Given the description of an element on the screen output the (x, y) to click on. 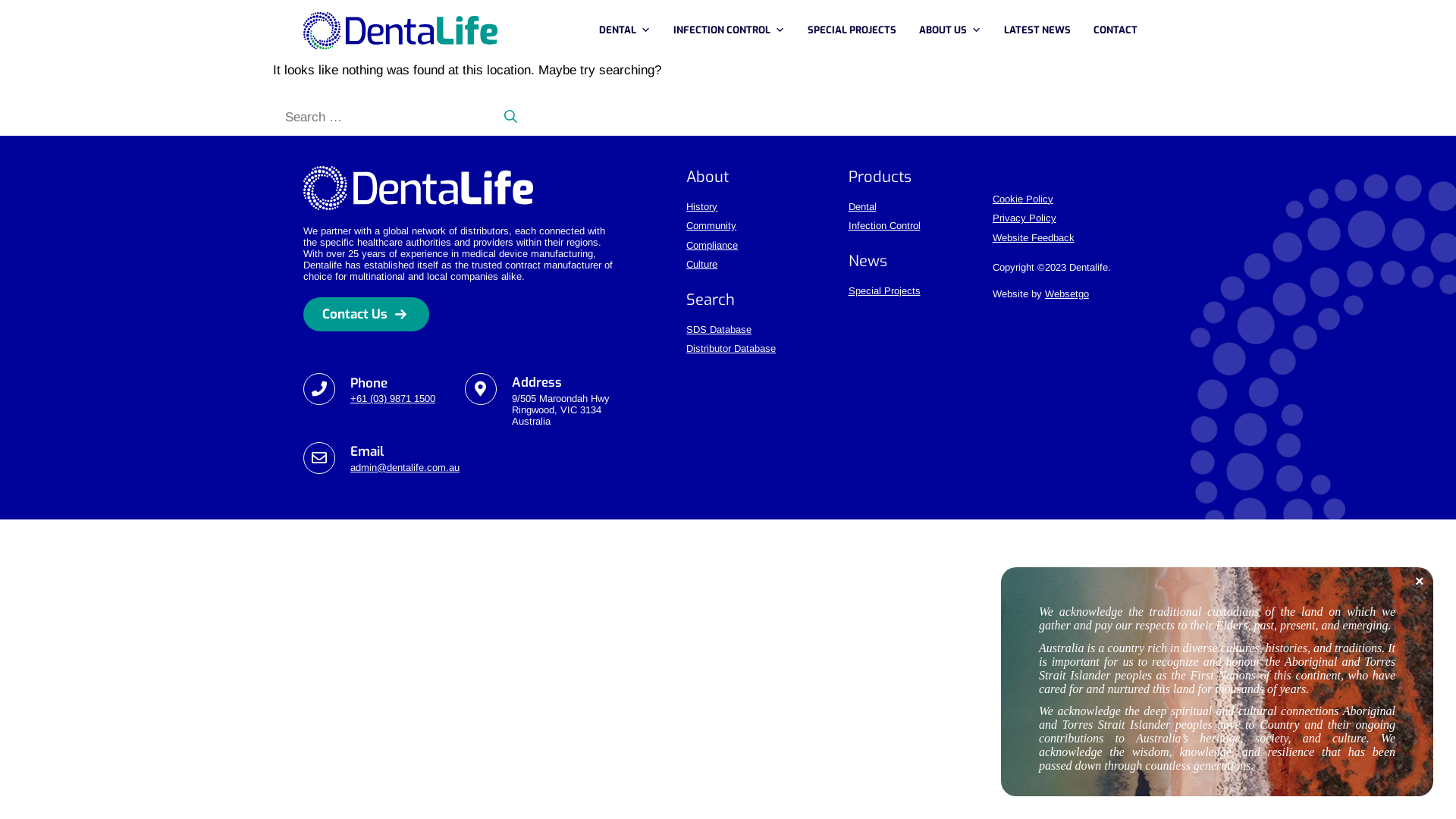
Special Projects Element type: text (883, 290)
CONTACT Element type: text (1118, 30)
Websetgo Element type: text (1066, 293)
INFECTION CONTROL Element type: text (732, 30)
Cookie Policy Element type: text (1022, 197)
DENTAL Element type: text (628, 30)
Distributor Database Element type: text (730, 348)
Community Element type: text (711, 225)
SPECIAL PROJECTS Element type: text (855, 30)
admin@dentalife.com.au Element type: text (404, 467)
Website Feedback Element type: text (1033, 237)
History Element type: text (701, 205)
Culture Element type: text (701, 263)
SDS Database Element type: text (718, 328)
+61 (03) 9871 1500 Element type: text (392, 398)
Privacy Policy Element type: text (1024, 217)
Compliance Element type: text (711, 245)
LATEST NEWS Element type: text (1040, 30)
ABOUT US Element type: text (953, 30)
Infection Control Element type: text (883, 225)
Dental Element type: text (861, 205)
Contact Us Element type: text (366, 314)
Search for: Element type: hover (378, 117)
